Given the description of an element on the screen output the (x, y) to click on. 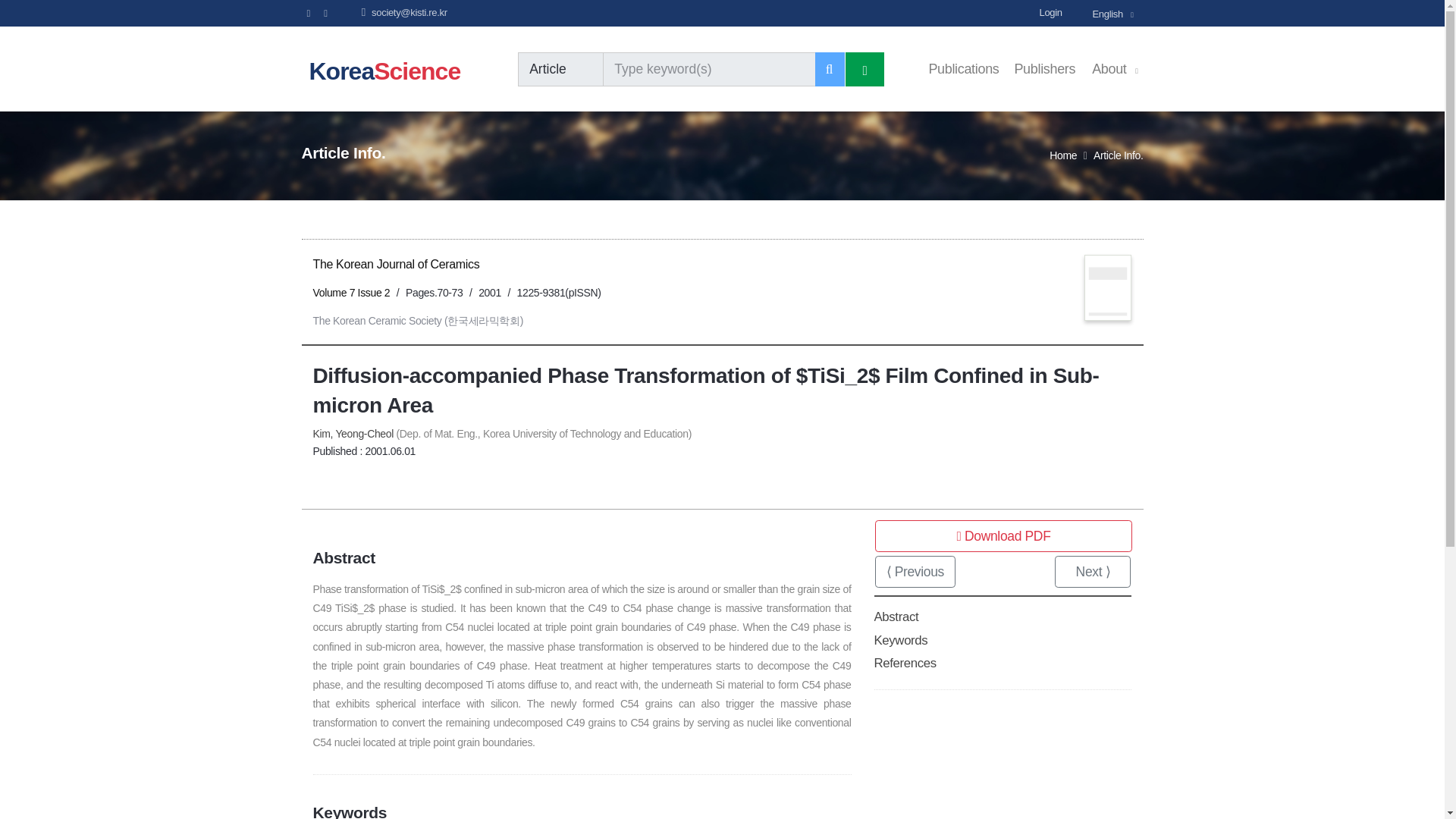
Login (1063, 11)
Go to facebook page (308, 12)
The Korean Journal of Ceramics (396, 264)
KoreaScience (388, 69)
Abstract (895, 616)
Keywords (900, 640)
Download PDF (1003, 536)
About (1114, 62)
Kim, Yeong-Cheol (353, 433)
Publications (963, 69)
Home (1063, 155)
Change language (1116, 12)
References (904, 663)
Go to twitter page (325, 12)
Publishers (1044, 69)
